Given the description of an element on the screen output the (x, y) to click on. 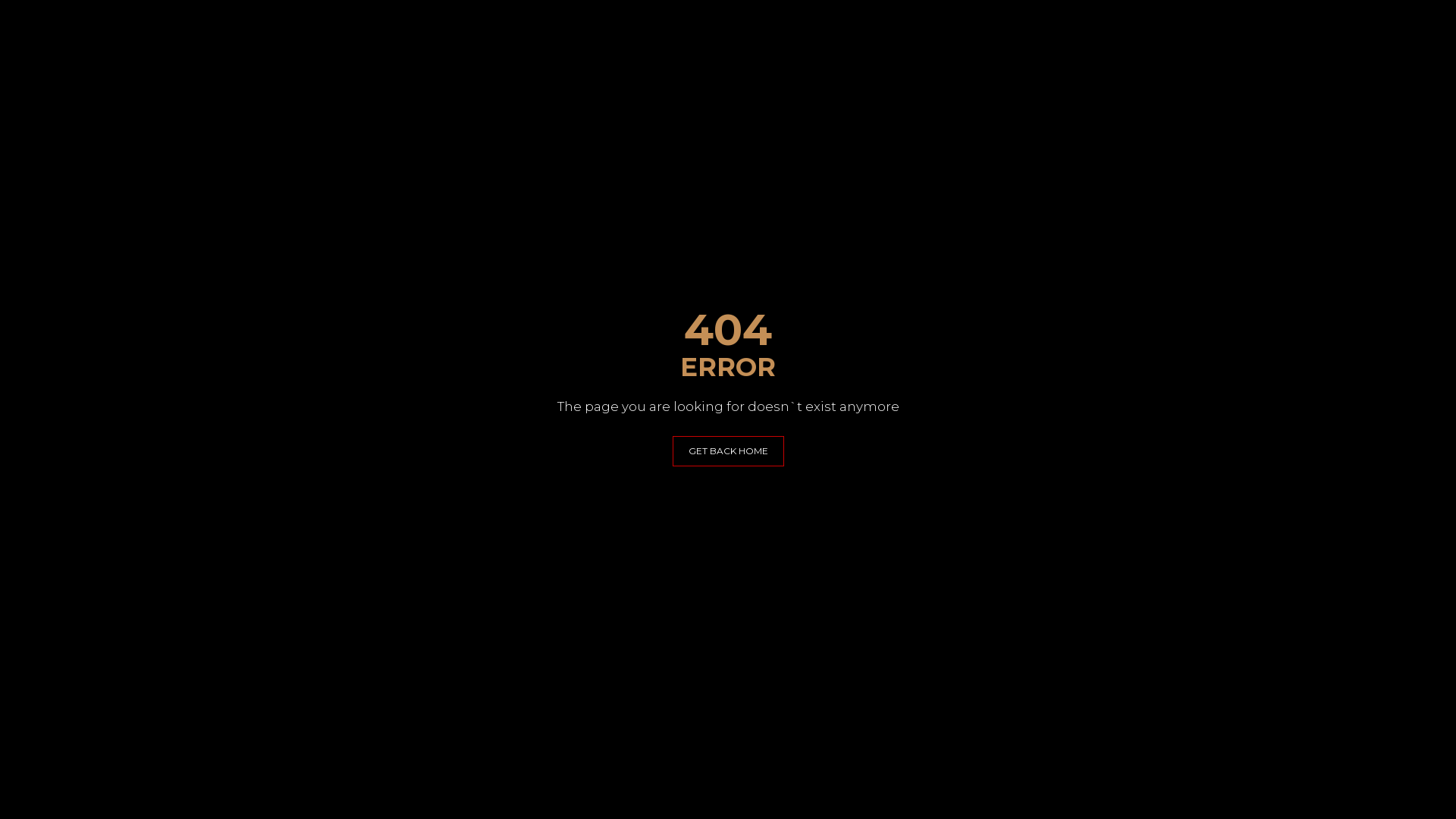
GET BACK HOME Element type: text (727, 451)
